Given the description of an element on the screen output the (x, y) to click on. 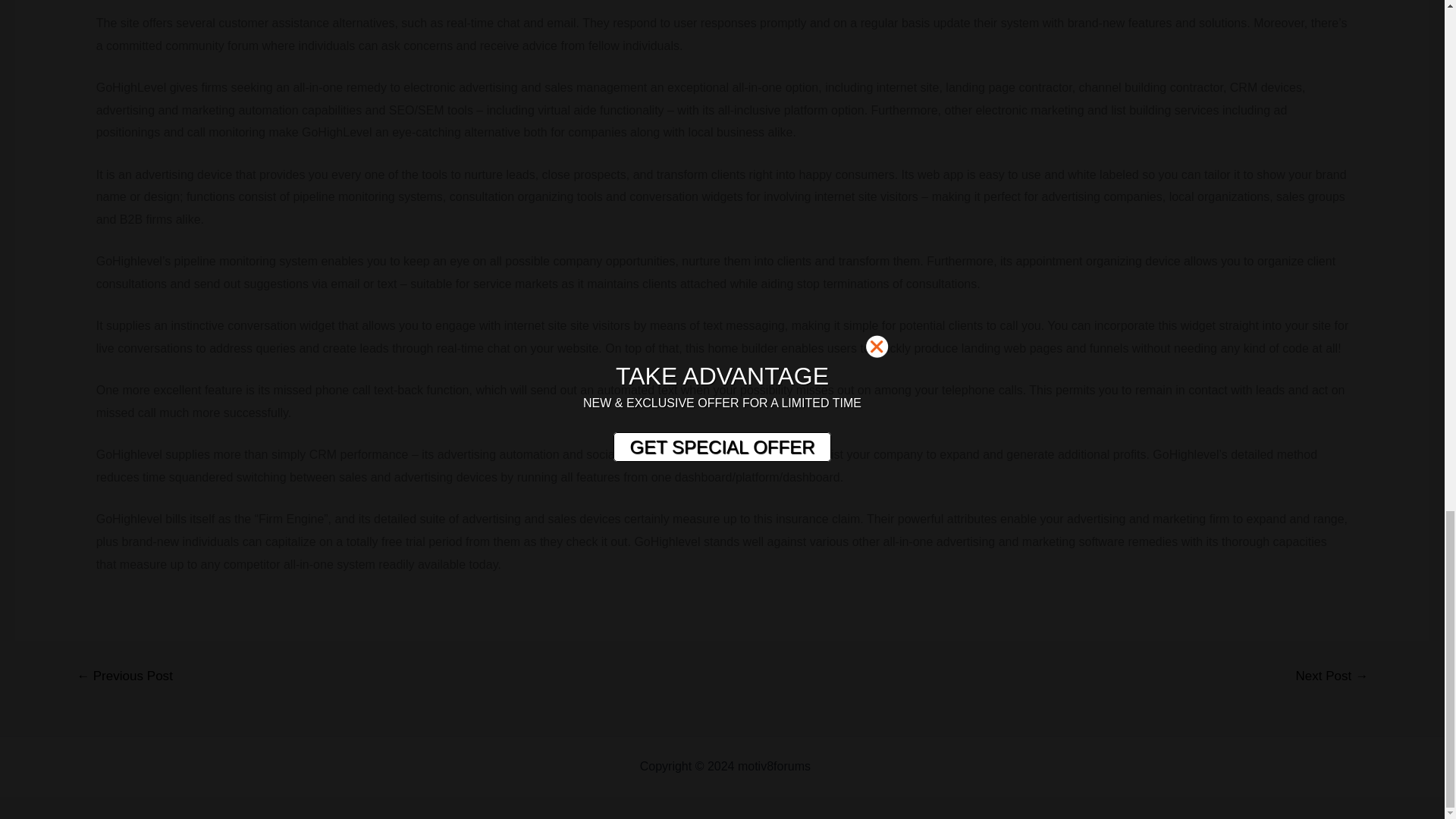
Sitemap (836, 766)
